Given the description of an element on the screen output the (x, y) to click on. 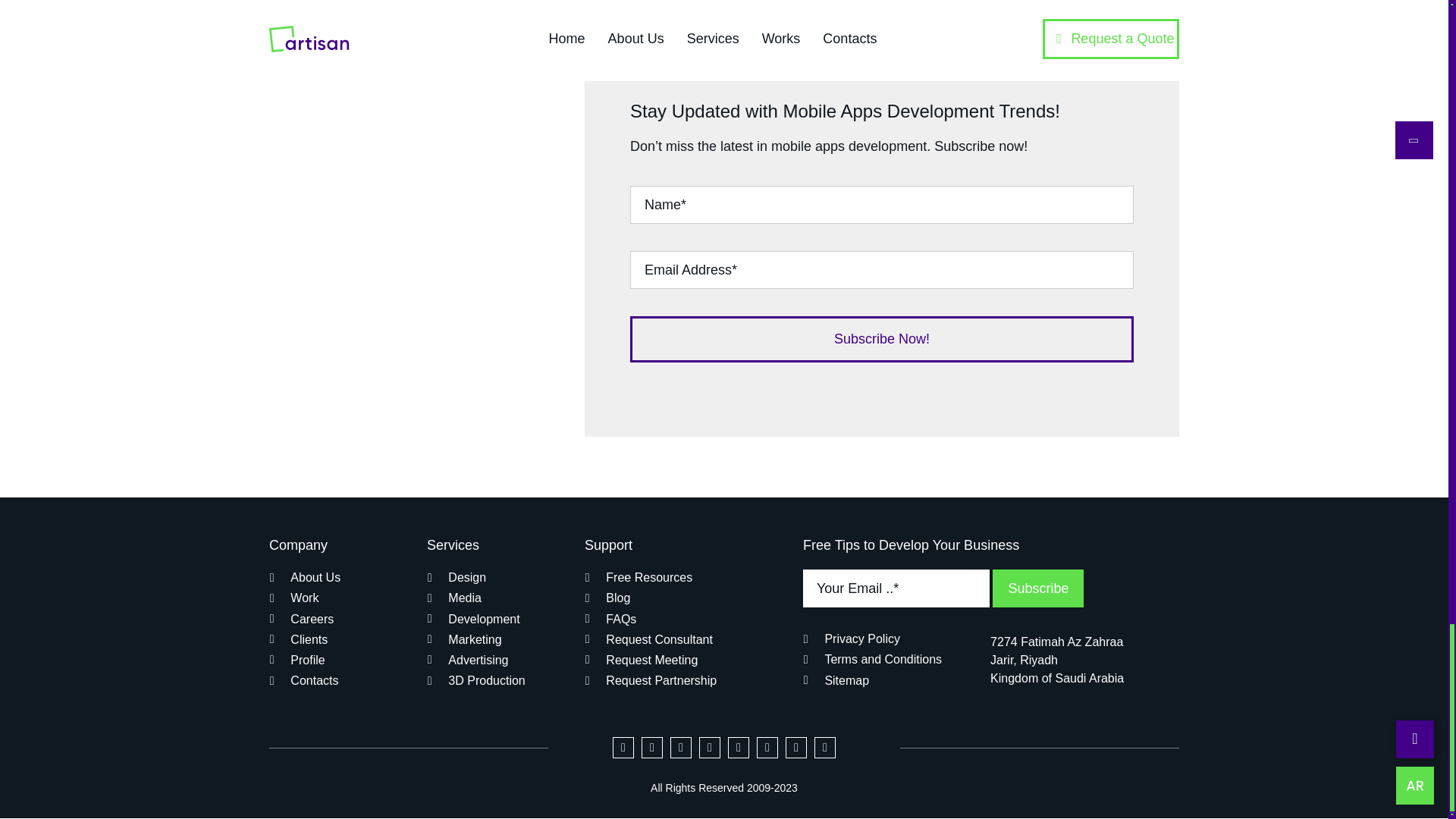
Subscribe Now! (882, 281)
Subscribe (946, 596)
